Given the description of an element on the screen output the (x, y) to click on. 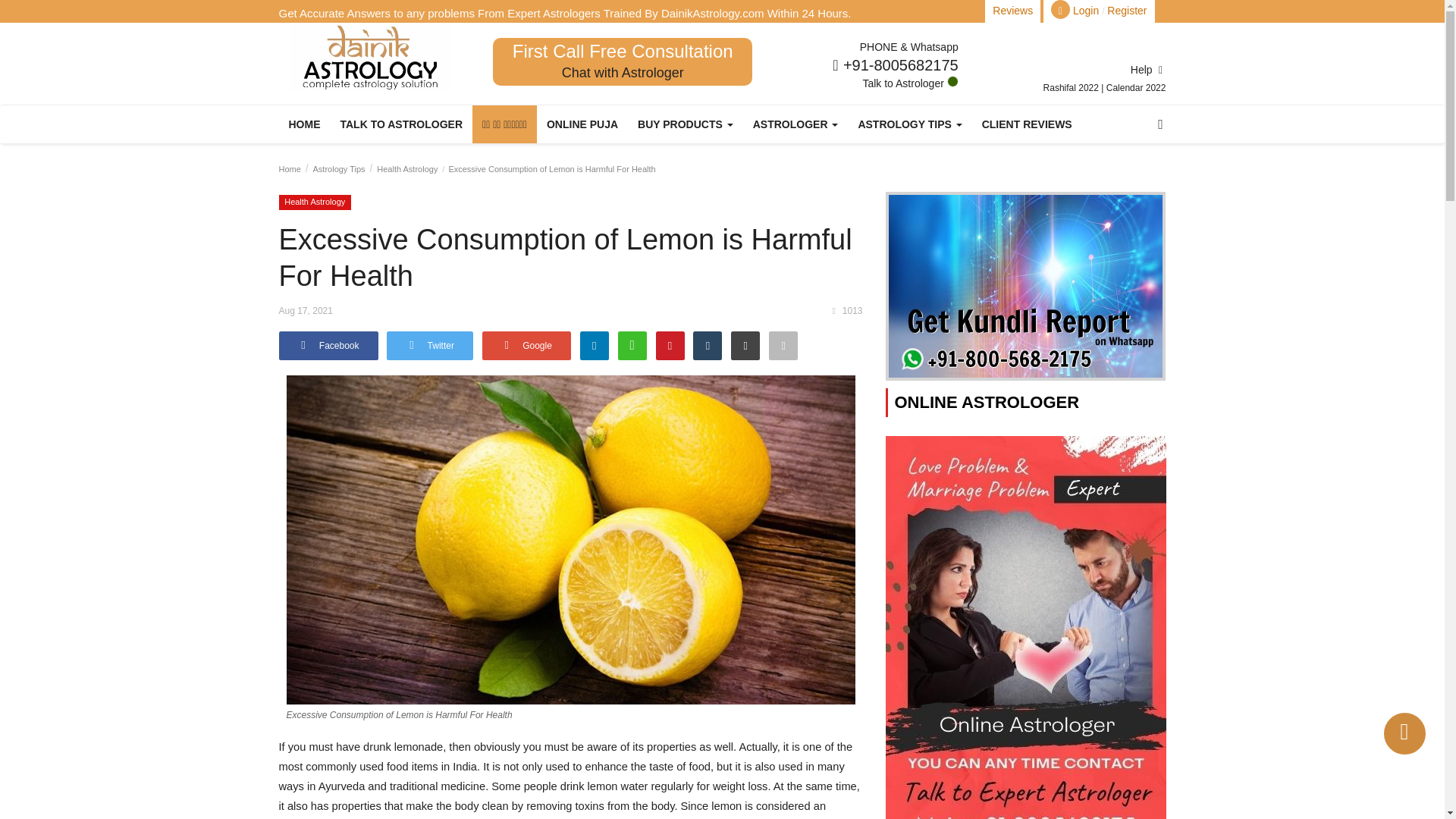
Rashifal 2022 (1072, 87)
Reviews (1012, 11)
Calendar 2022 (1136, 87)
Chat with Astrologer (623, 72)
TALK TO ASTROLOGER (401, 124)
Login (1086, 11)
Talk to Astrologer (909, 82)
Register (1126, 11)
ONLINE PUJA (582, 124)
BUY PRODUCTS (684, 124)
HOME (304, 124)
ASTROLOGY TIPS (909, 124)
ASTROLOGER (795, 124)
